Given the description of an element on the screen output the (x, y) to click on. 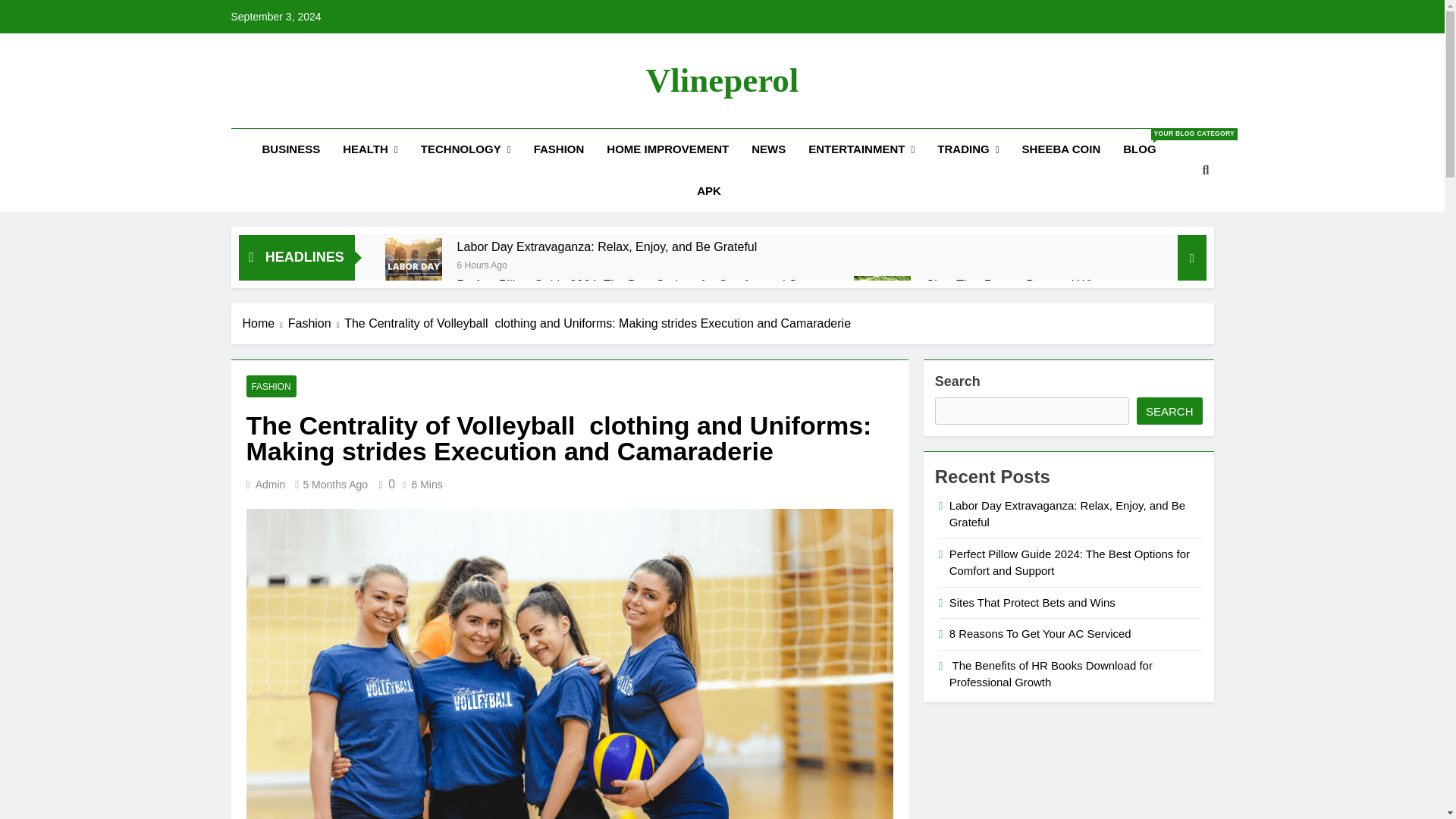
BUSINESS (290, 148)
Labor Day Extravaganza: Relax, Enjoy, and Be Grateful (607, 246)
Sites That Protect Bets and Wins (882, 304)
TRADING (968, 149)
APK (708, 190)
TECHNOLOGY (465, 149)
ENTERTAINMENT (861, 149)
SHEEBA COIN (1061, 148)
Labor Day Extravaganza: Relax, Enjoy, and Be Grateful (607, 246)
